Given the description of an element on the screen output the (x, y) to click on. 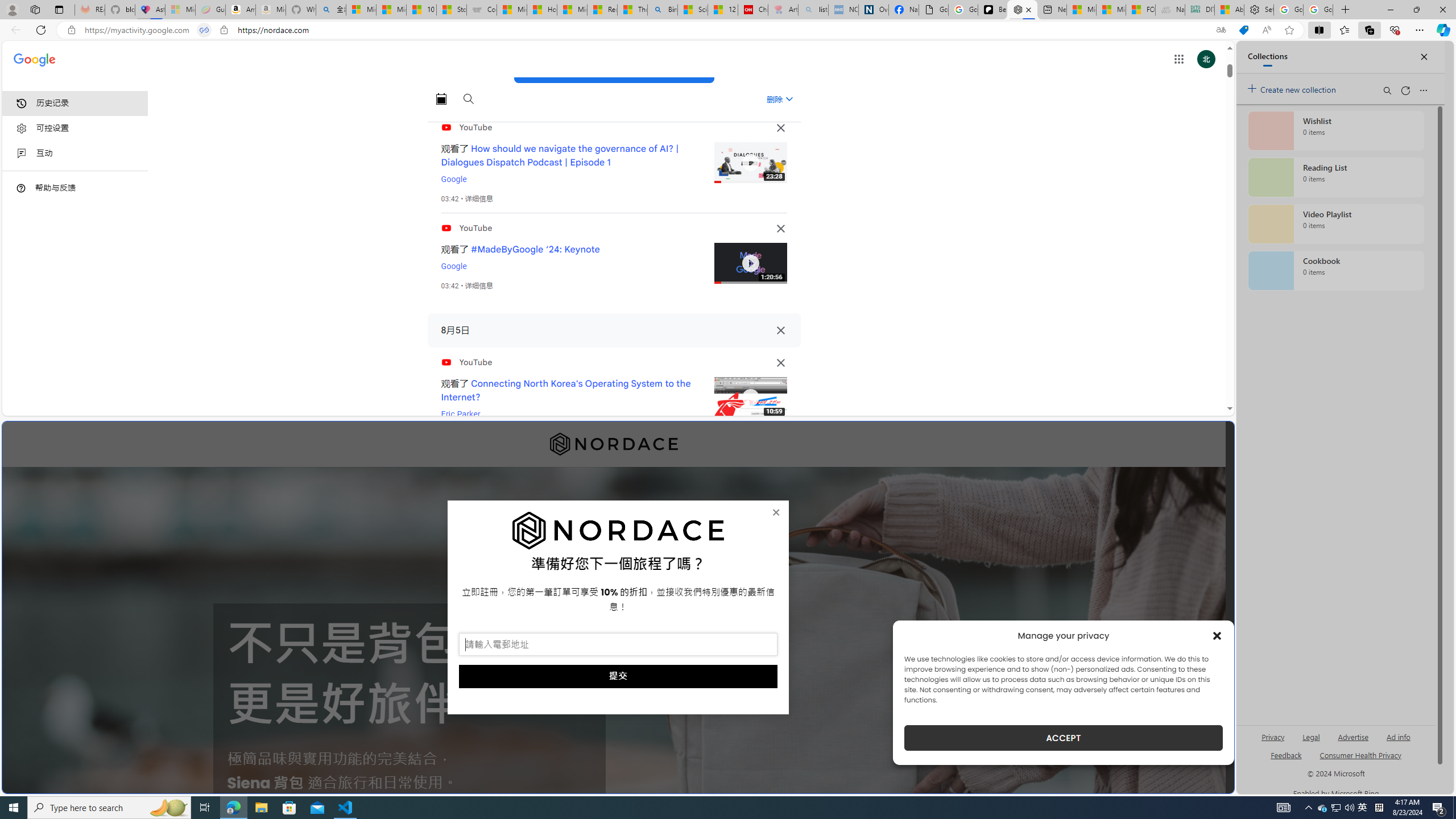
Arthritis: Ask Health Professionals - Sleeping (782, 9)
Connecting North Korea's Operating System to the Internet? (566, 390)
Google Analytics Opt-out Browser Add-on Download Page (933, 9)
Tabs in split screen (203, 29)
Class: asE2Ub NMm5M (788, 99)
ACCEPT (1063, 737)
